Given the description of an element on the screen output the (x, y) to click on. 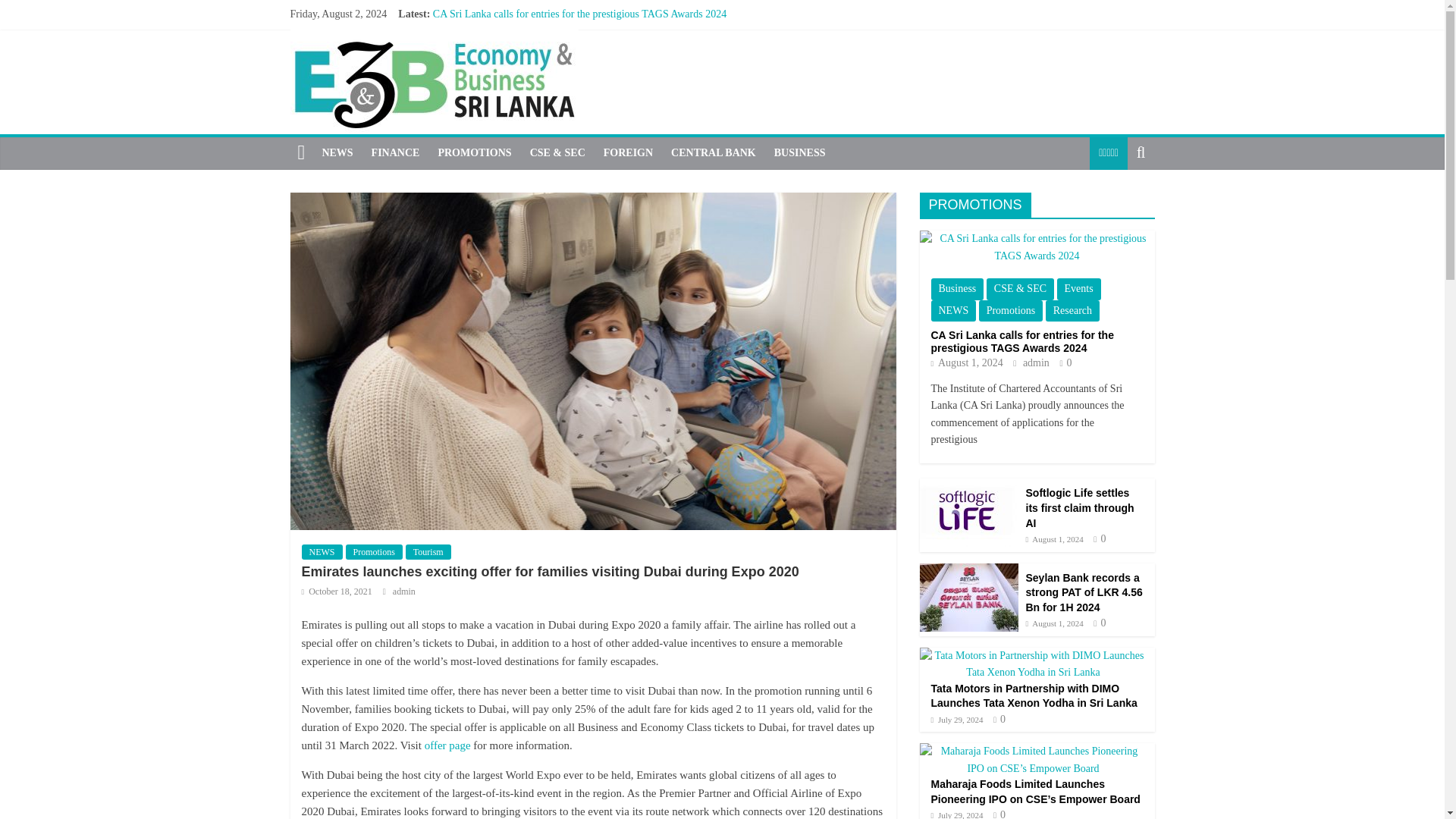
BUSINESS (799, 152)
Promotions (374, 551)
August 1, 2024 (967, 362)
10:02 am (967, 362)
3:52 pm (336, 591)
Tourism (428, 551)
NEWS (953, 310)
Seylan Bank records a strong PAT of LKR 4.56 Bn for 1H 2024 (567, 48)
Research (1072, 310)
